Given the description of an element on the screen output the (x, y) to click on. 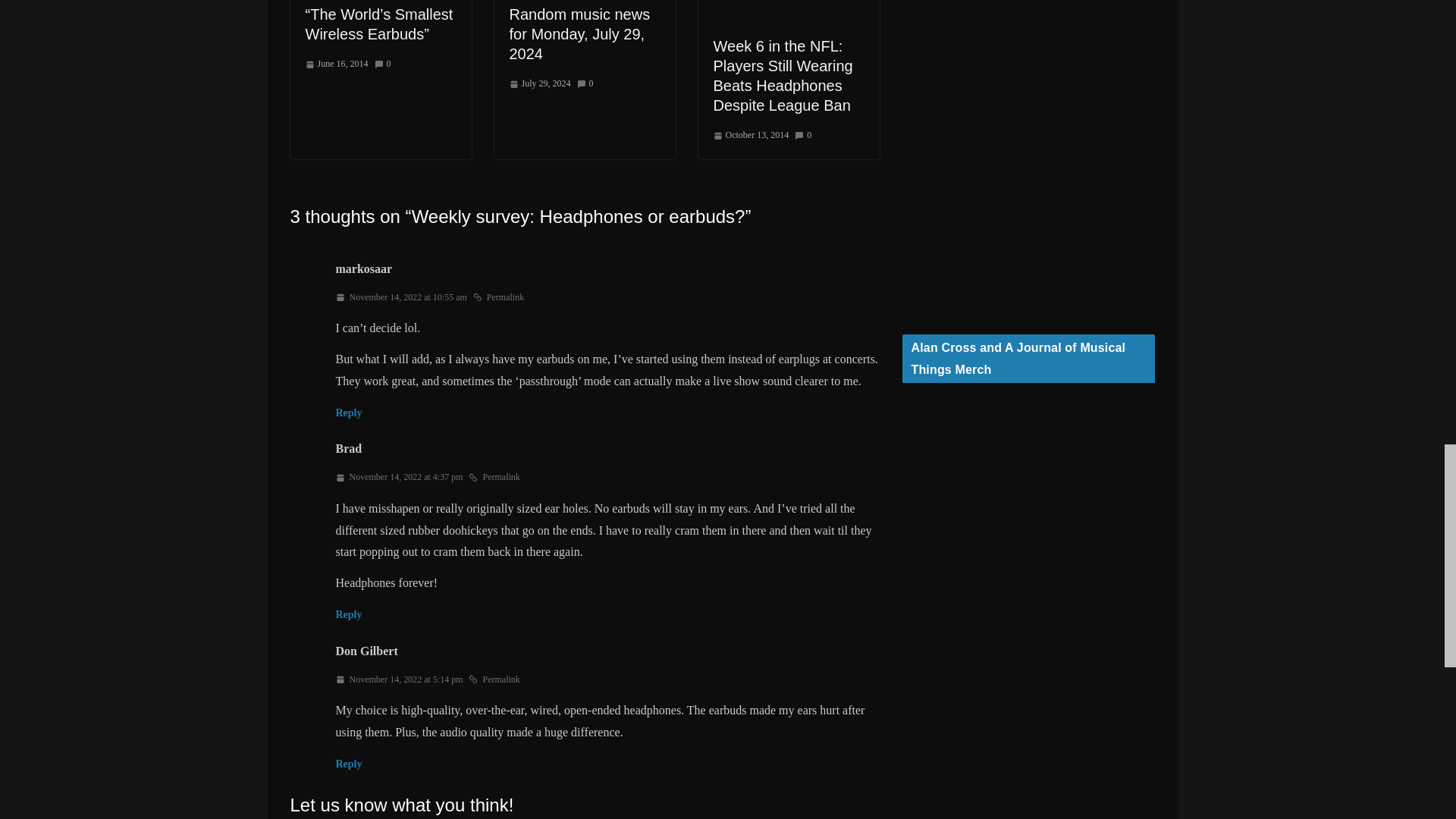
July 29, 2024 (539, 84)
8:38 am (336, 64)
June 16, 2014 (336, 64)
Random music news for Monday, July 29, 2024 (579, 33)
9:01 am (751, 135)
Random music news for Monday, July 29, 2024 (579, 33)
7:00 am (539, 84)
